Given the description of an element on the screen output the (x, y) to click on. 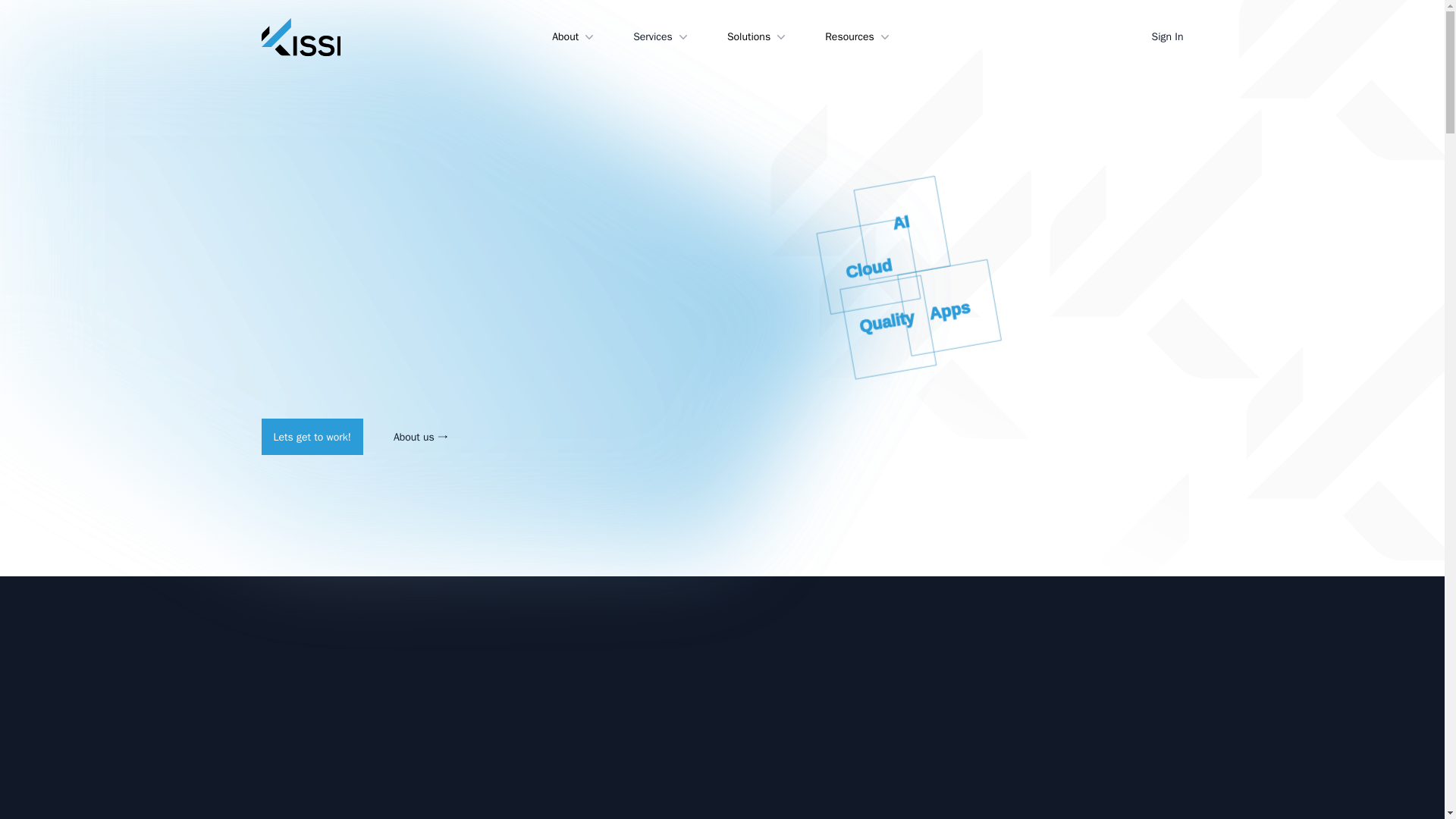
About (573, 36)
Sign In (1167, 36)
Services (661, 36)
Lets get to work! (311, 436)
Resources (858, 36)
Solutions (757, 36)
